Given the description of an element on the screen output the (x, y) to click on. 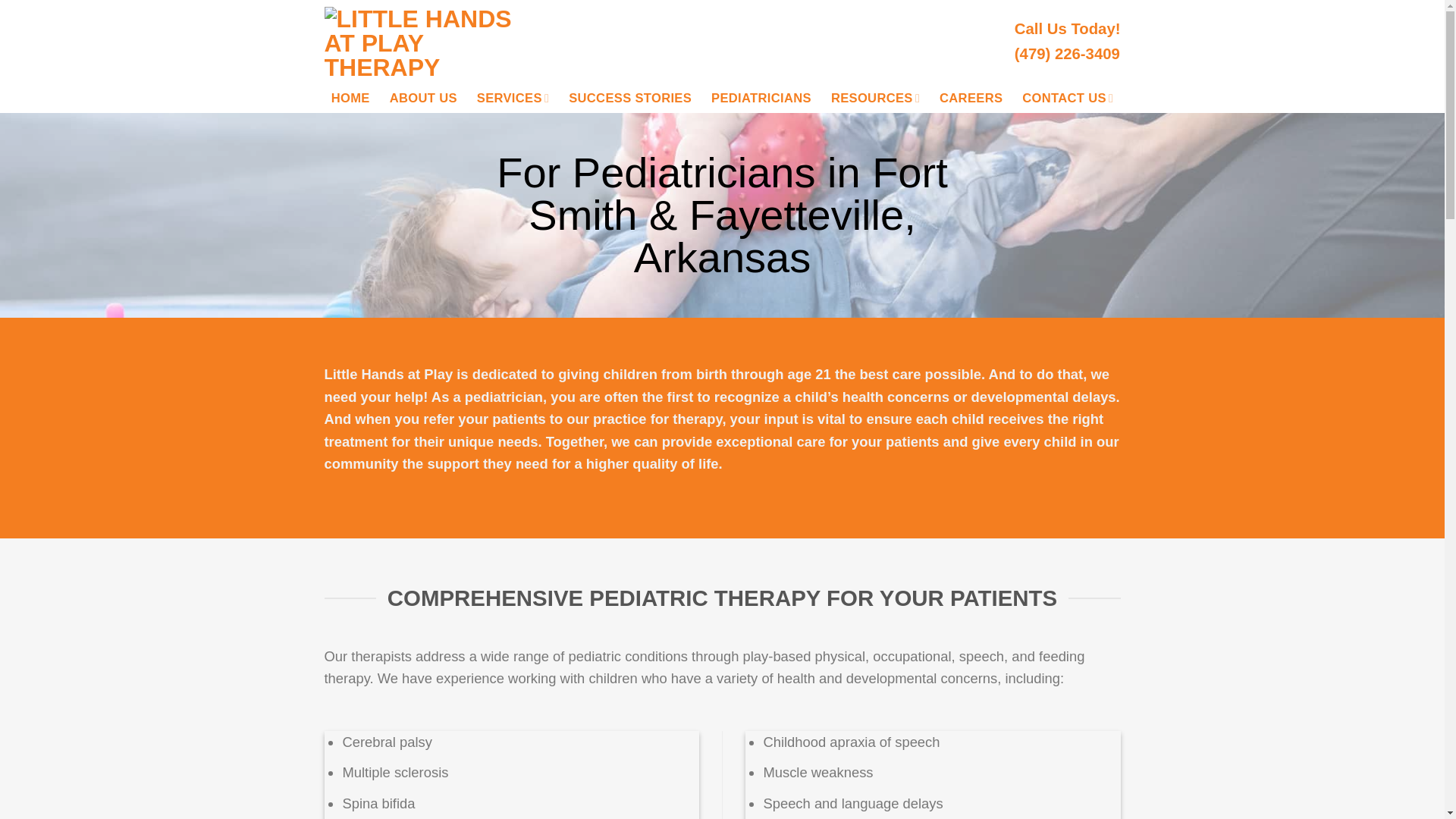
CAREERS (971, 98)
PEDIATRICIANS (760, 98)
HOME (350, 98)
Little Hands at Play Therapy (424, 41)
CONTACT US (1067, 98)
RESOURCES (875, 98)
ABOUT US (423, 98)
SUCCESS STORIES (630, 98)
SERVICES (512, 98)
